Given the description of an element on the screen output the (x, y) to click on. 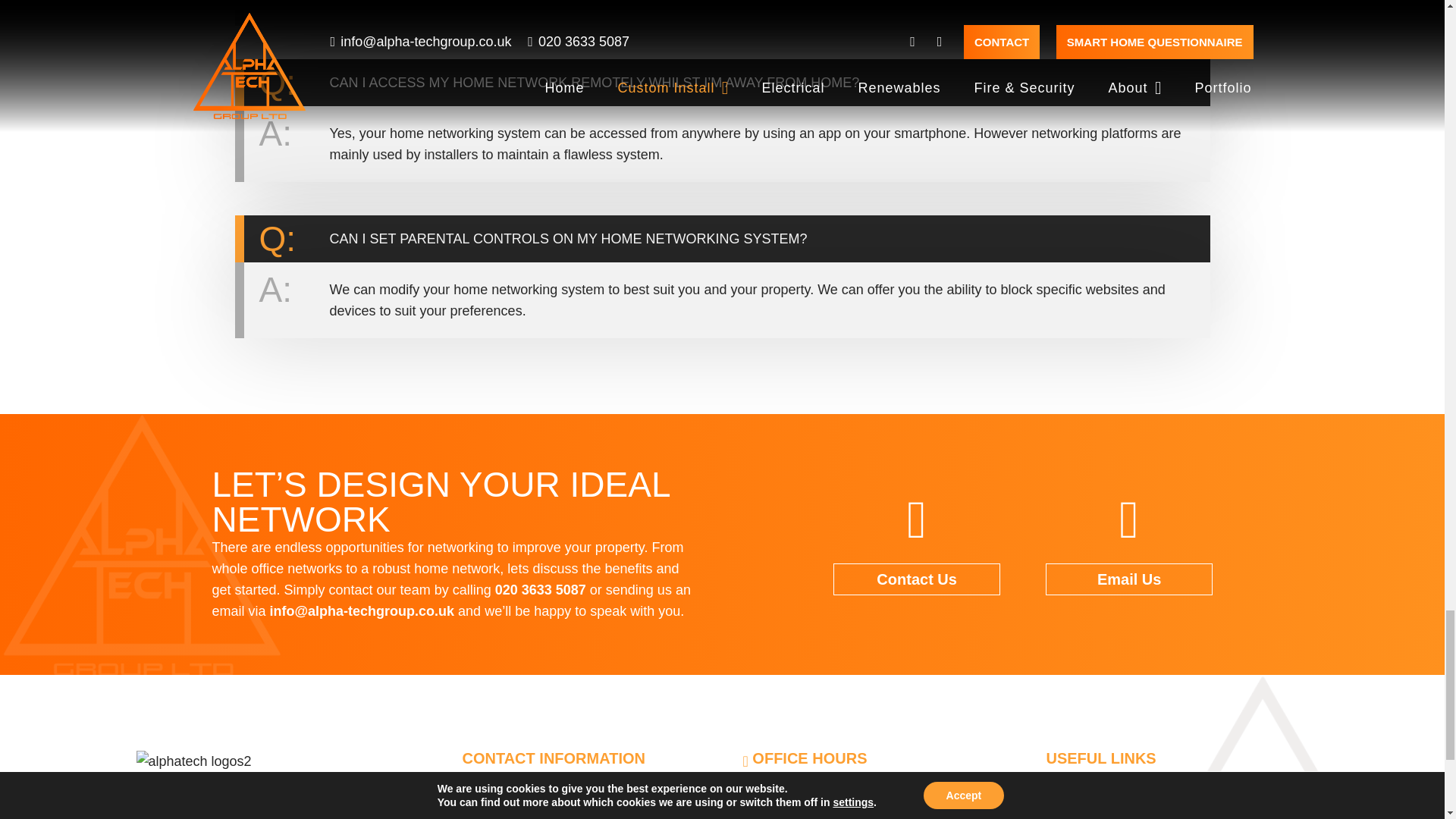
Contact Us (916, 579)
020 3633 5087 (540, 590)
Email Us (1128, 579)
